Given the description of an element on the screen output the (x, y) to click on. 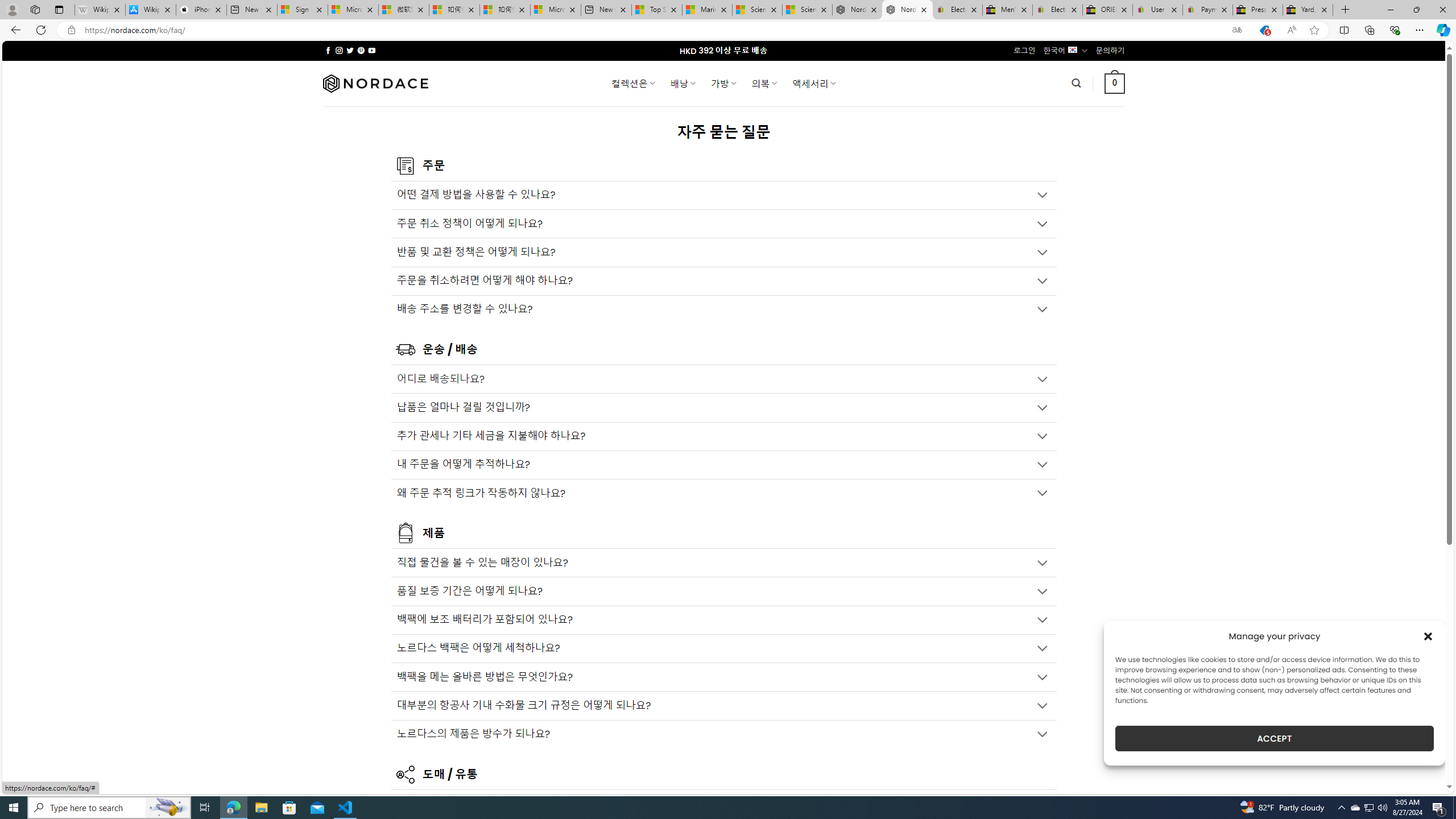
Follow on Pinterest (360, 50)
iPhone - Apple (201, 9)
This site has coupons! Shopping in Microsoft Edge, 5 (1263, 29)
Press Room - eBay Inc. (1257, 9)
Top Stories - MSN (656, 9)
